Given the description of an element on the screen output the (x, y) to click on. 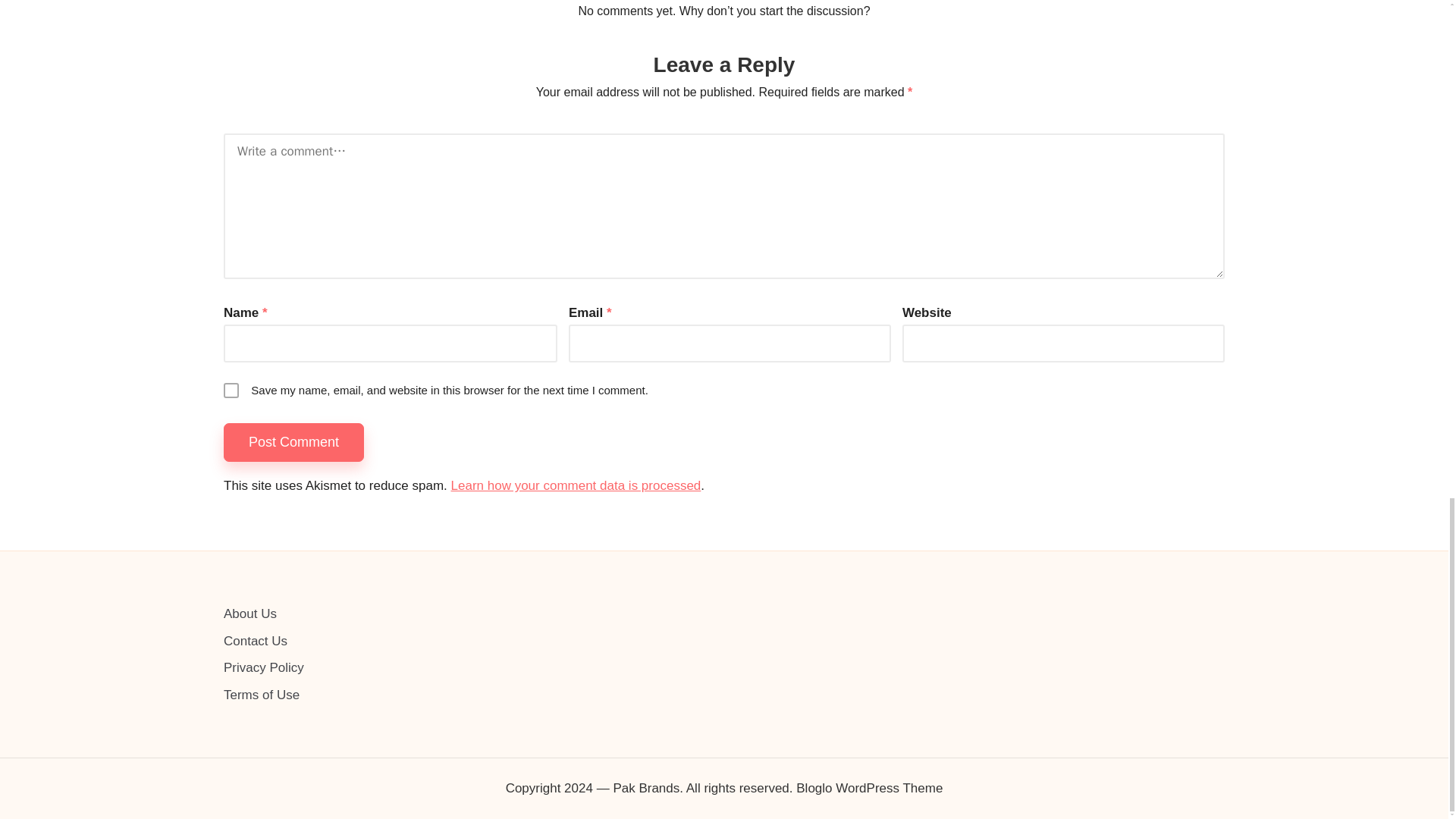
Terms of Use (261, 694)
About Us (250, 613)
Learn how your comment data is processed (576, 485)
Bloglo WordPress Theme (869, 788)
Post Comment (294, 442)
yes (231, 390)
Post Comment (294, 442)
Contact Us (255, 640)
Privacy Policy (264, 667)
